Given the description of an element on the screen output the (x, y) to click on. 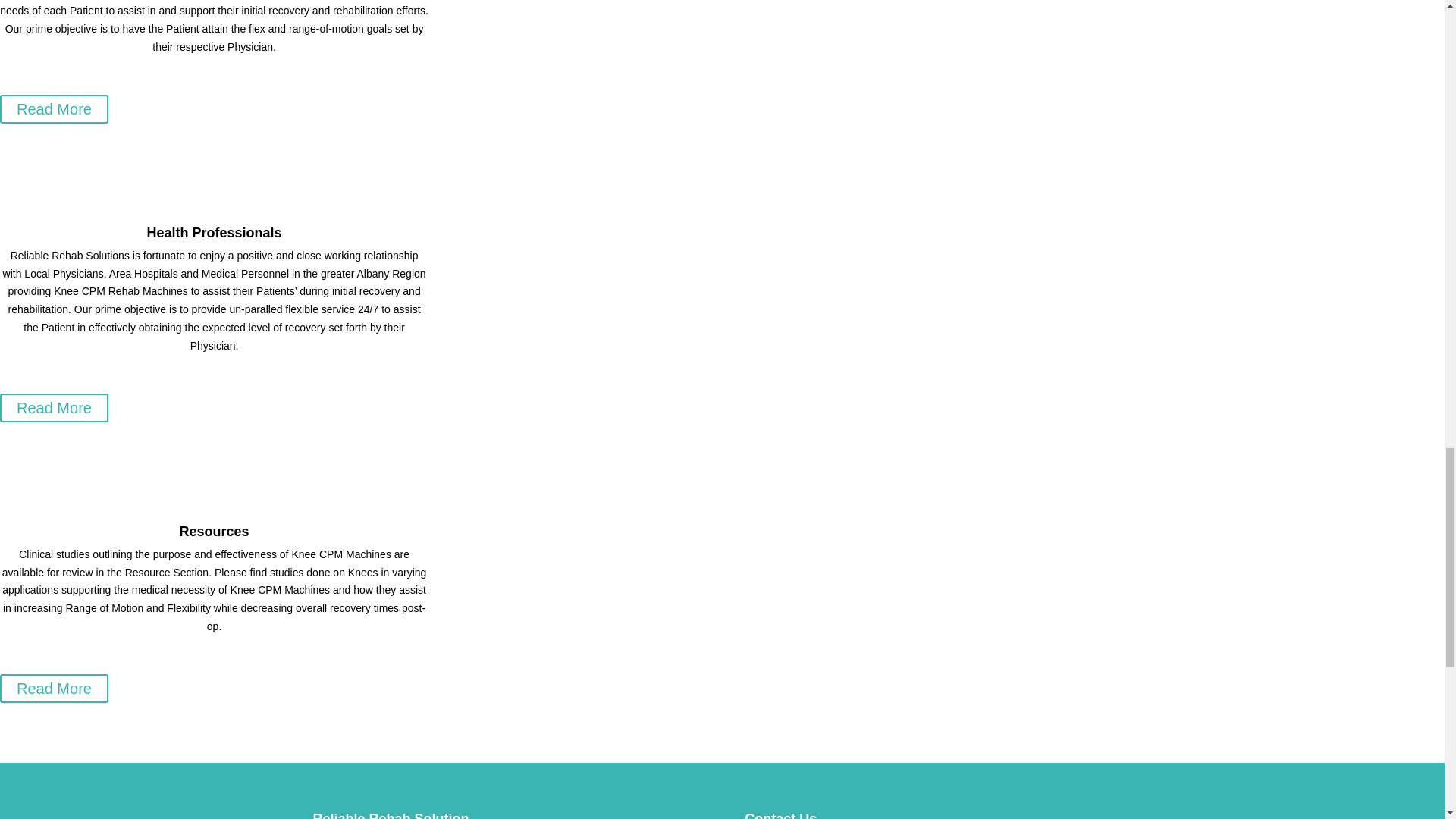
Health Professionals (214, 232)
Resources (213, 531)
Read More (53, 109)
Read More (53, 688)
Read More (53, 407)
